Given the description of an element on the screen output the (x, y) to click on. 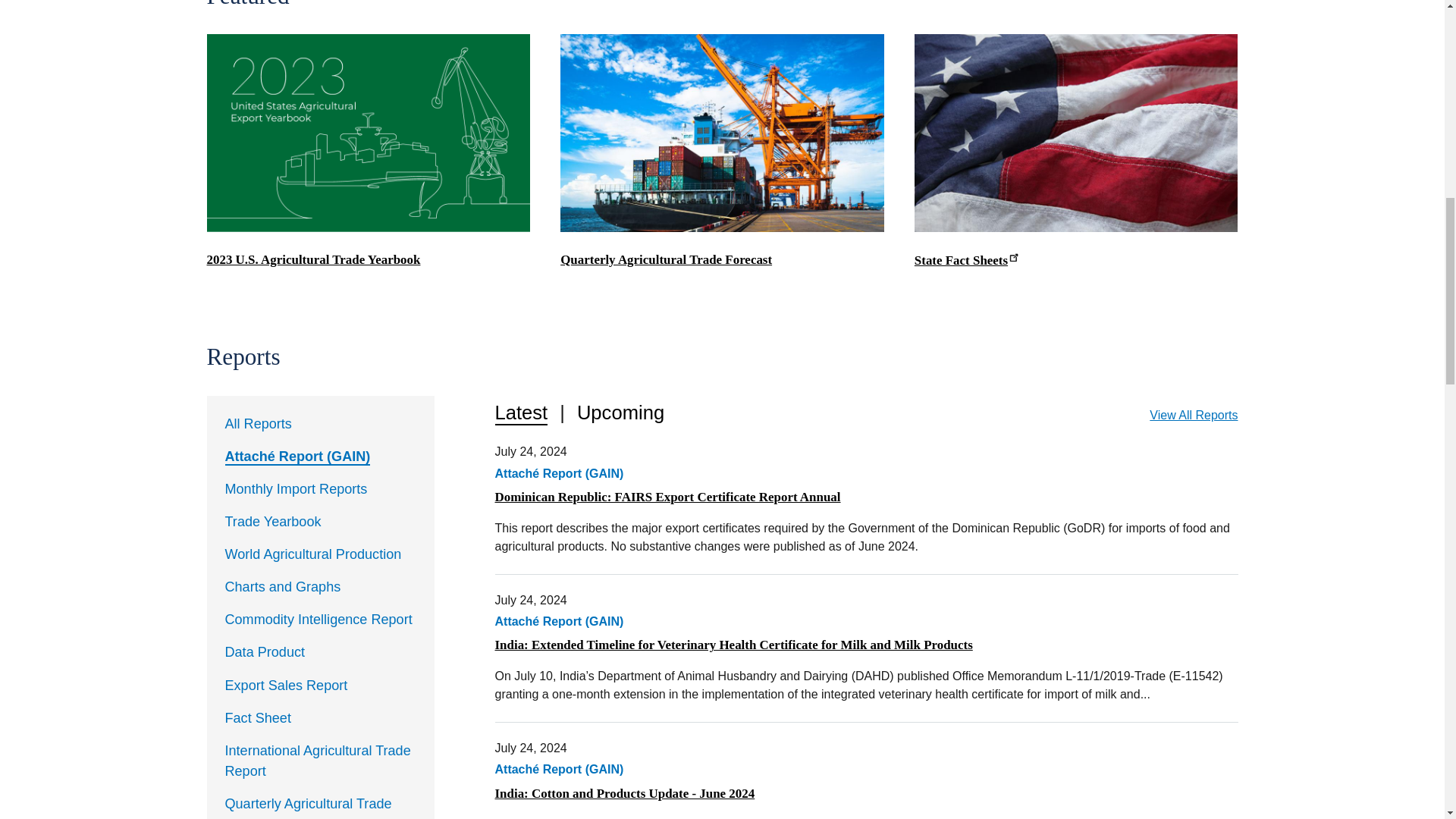
Quarterly Agricultural Trade Forecast (665, 259)
2023 U.S. Agricultural Trade Yearbook (313, 259)
